Given the description of an element on the screen output the (x, y) to click on. 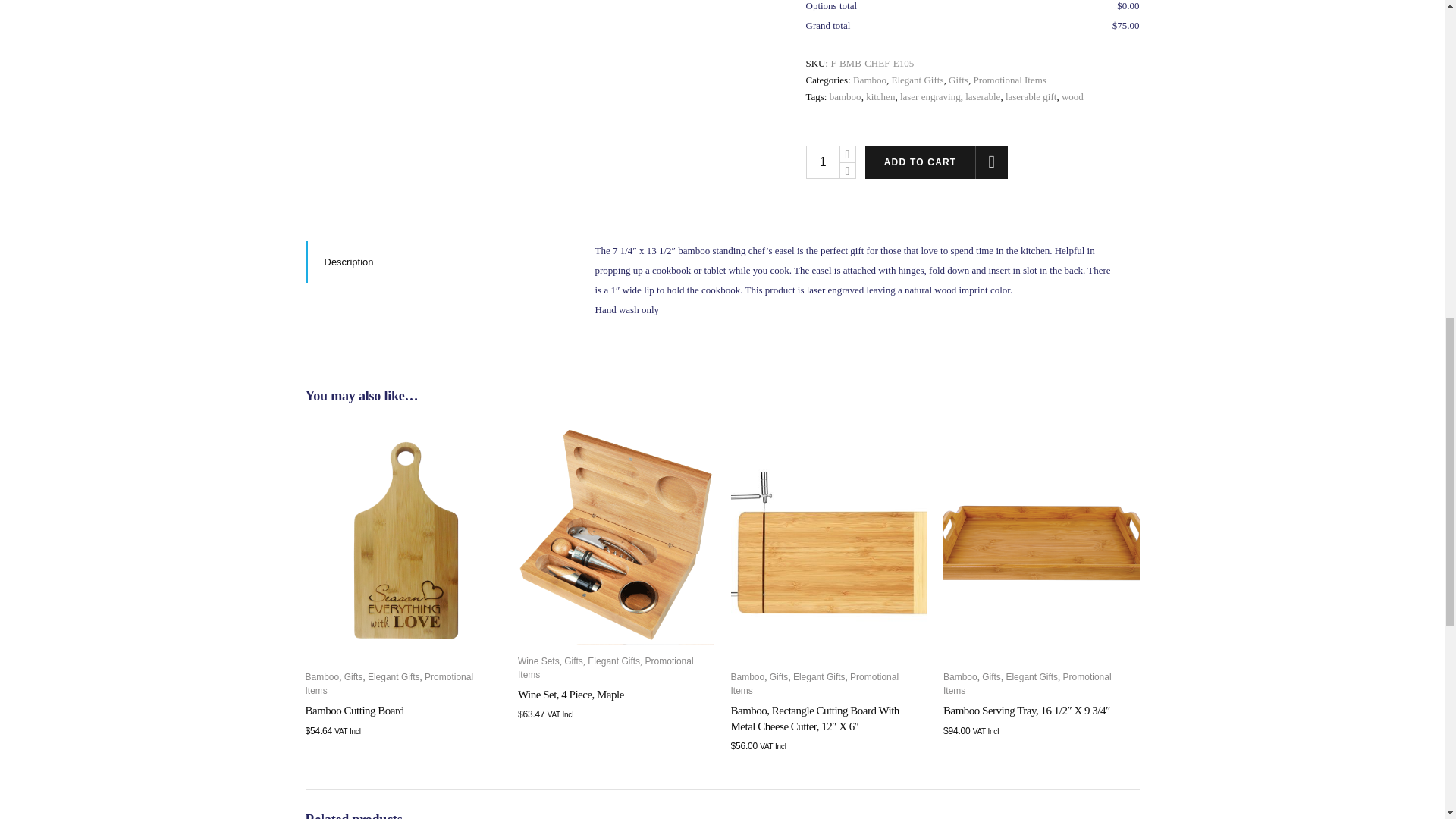
1 (821, 162)
Qty (821, 162)
